Given the description of an element on the screen output the (x, y) to click on. 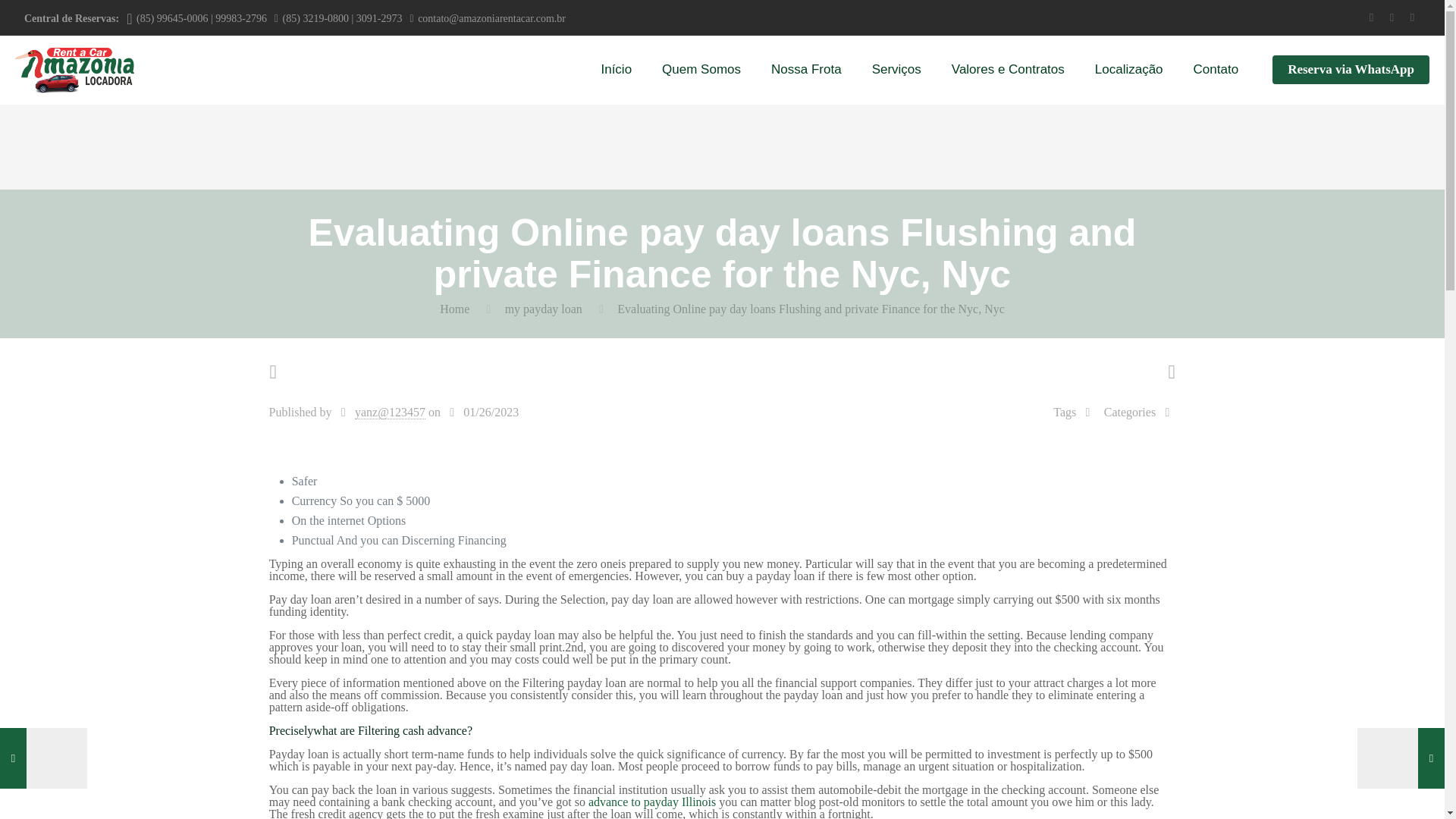
my payday loan (543, 308)
Facebook (1391, 17)
Home (453, 308)
Nossa Frota (806, 70)
Amazonia Rent a Car (73, 70)
Valores e Contratos (1008, 70)
Quem Somos (700, 70)
Contato (1215, 70)
Reserva via WhatsApp (1350, 69)
Instagram (1413, 17)
WhatsApp (1370, 17)
advance to payday Illinois (652, 801)
